Given the description of an element on the screen output the (x, y) to click on. 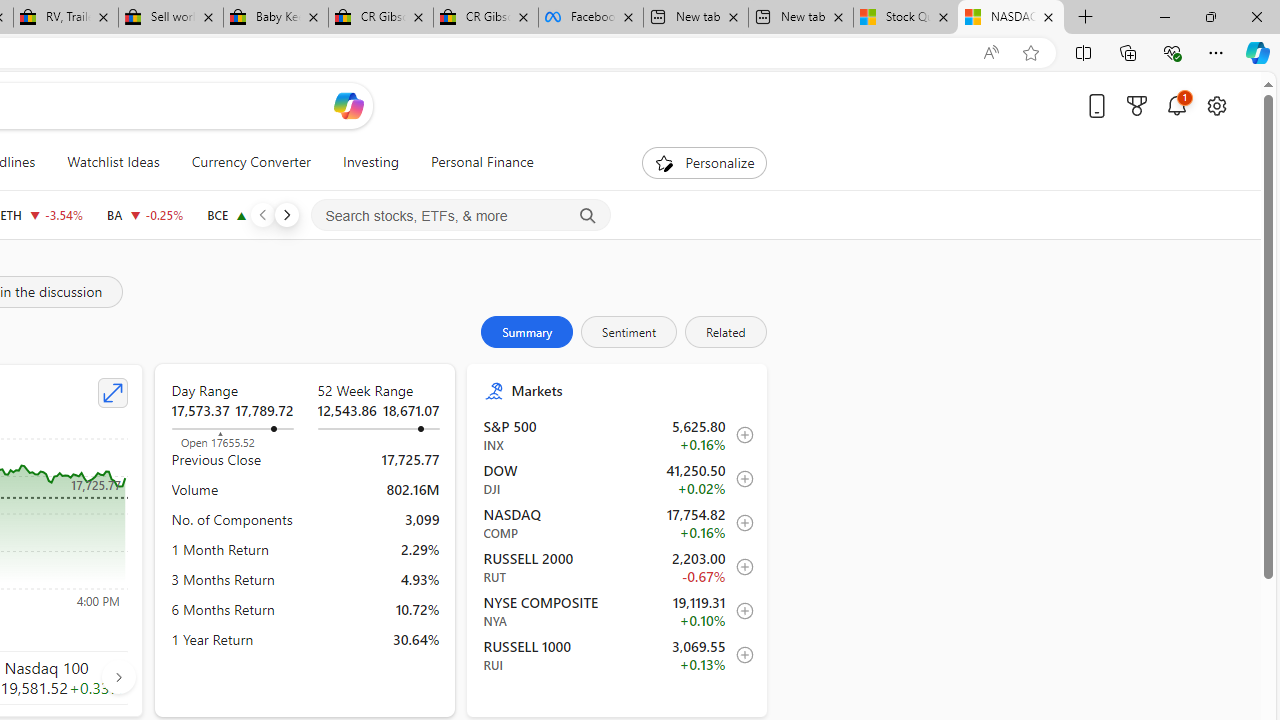
Personal Finance (481, 162)
Sentiment (629, 331)
INX S&P 500 increase 5,625.80 +8.96 +0.16% itemundefined (617, 435)
Currency Converter (250, 162)
Sell worldwide with eBay (170, 17)
